Given the description of an element on the screen output the (x, y) to click on. 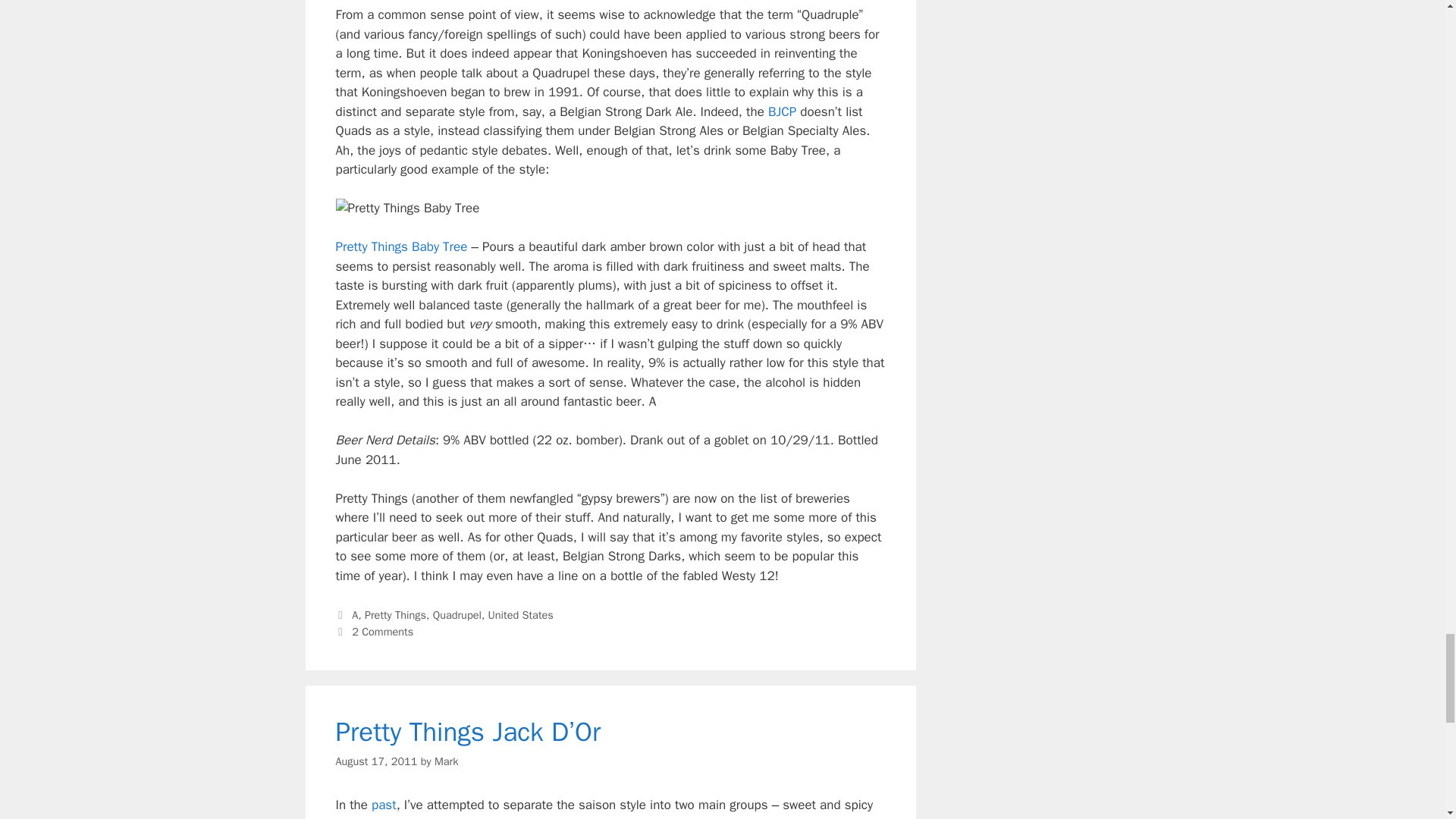
View all posts by Mark (445, 761)
